Given the description of an element on the screen output the (x, y) to click on. 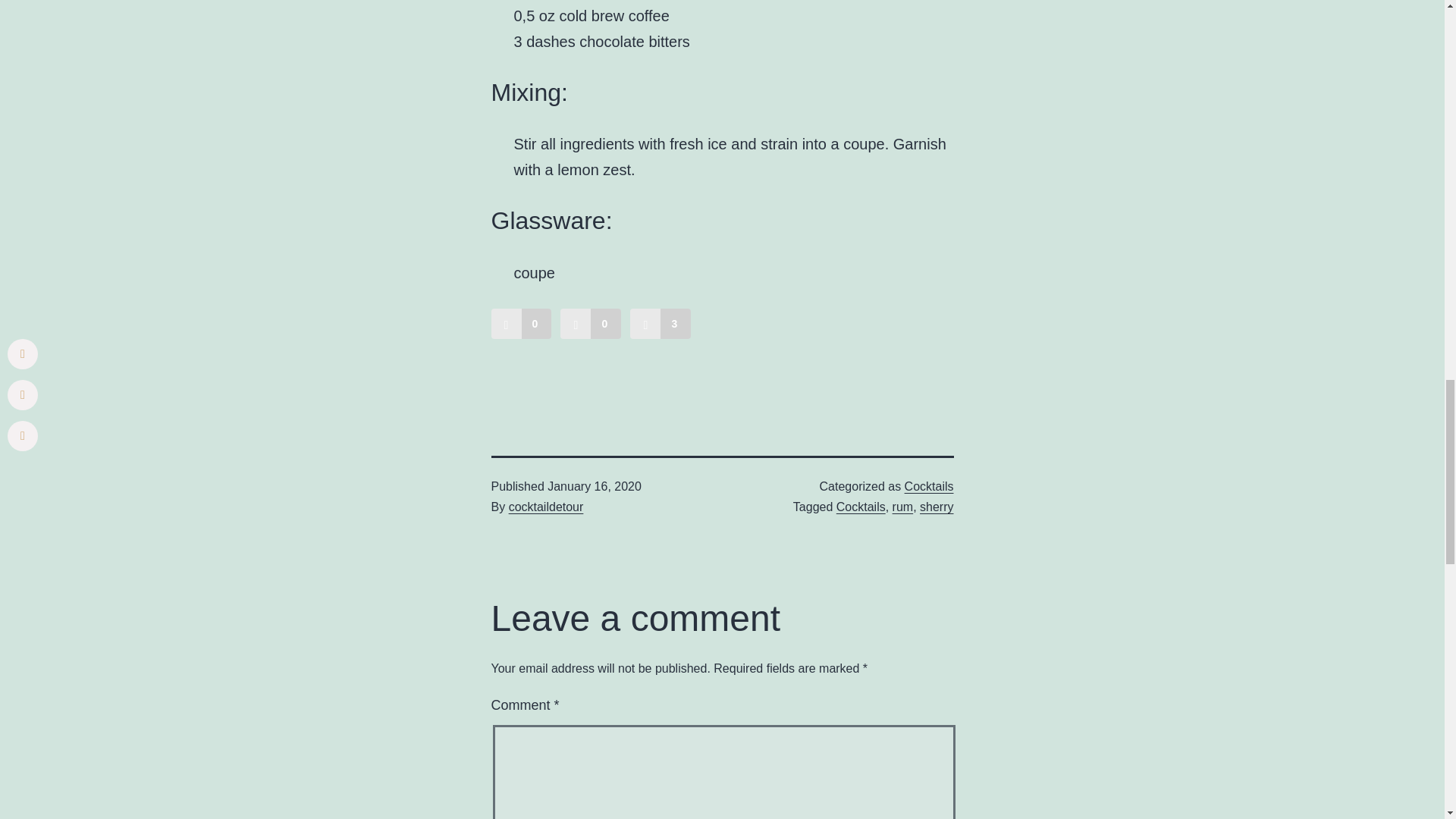
0 (590, 323)
Cocktails (860, 506)
3 (660, 323)
rum (903, 506)
sherry (936, 506)
0 (521, 323)
Cocktails (928, 486)
cocktaildetour (545, 506)
